Given the description of an element on the screen output the (x, y) to click on. 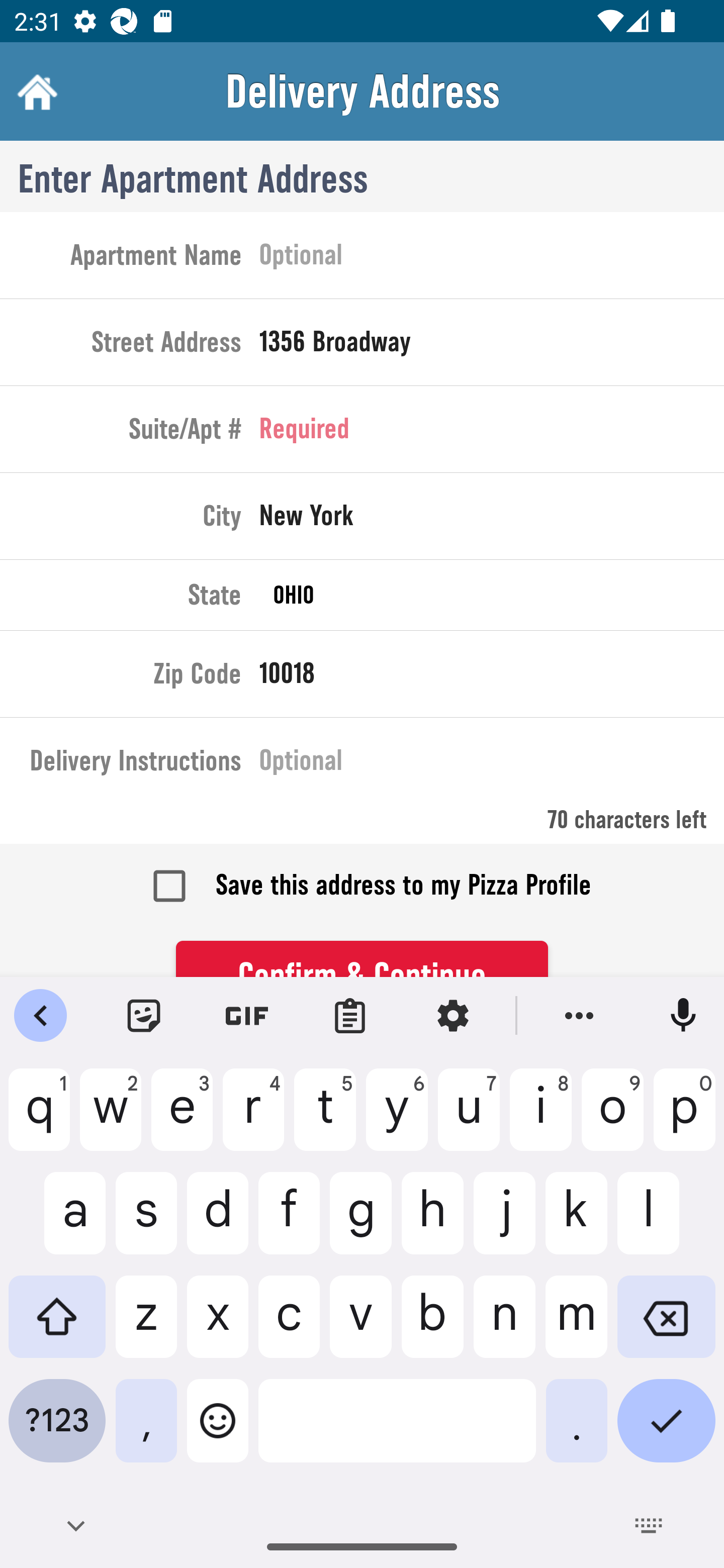
Home (35, 91)
Optional (491, 258)
1356 Broadway (491, 345)
Required (491, 432)
New York (491, 519)
OHIO (491, 594)
10018 (491, 677)
Optional (491, 764)
